Given the description of an element on the screen output the (x, y) to click on. 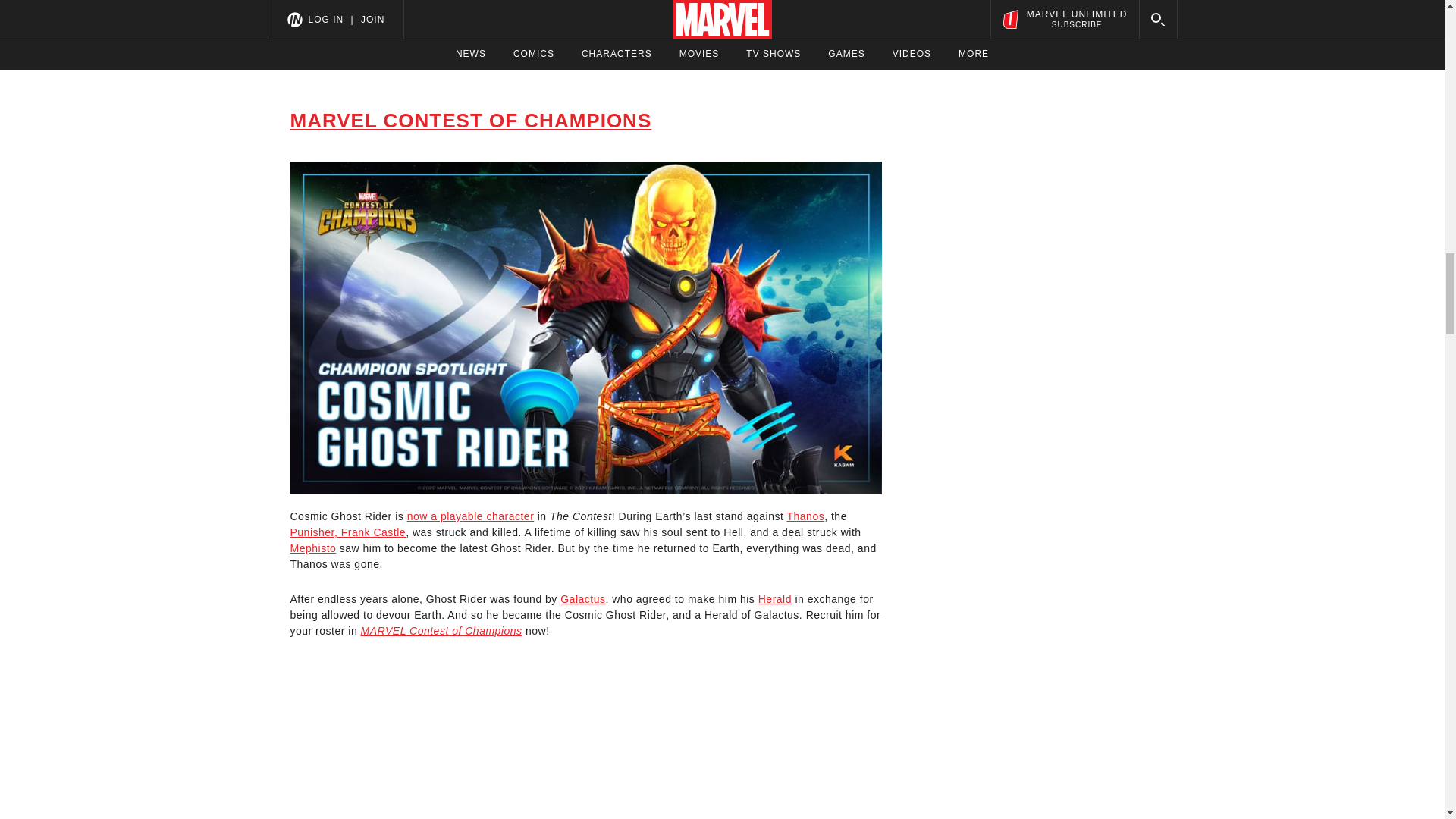
MARVEL Contest of Champions (441, 630)
Punisher, Frank Castle (347, 532)
MARVEL CONTEST OF CHAMPIONS (469, 119)
now a playable character (470, 516)
Mephisto (312, 548)
Galactus (582, 598)
Thanos (805, 516)
Herald (775, 598)
Marvel Youtube TlWwJmhibM0 (584, 748)
